Given the description of an element on the screen output the (x, y) to click on. 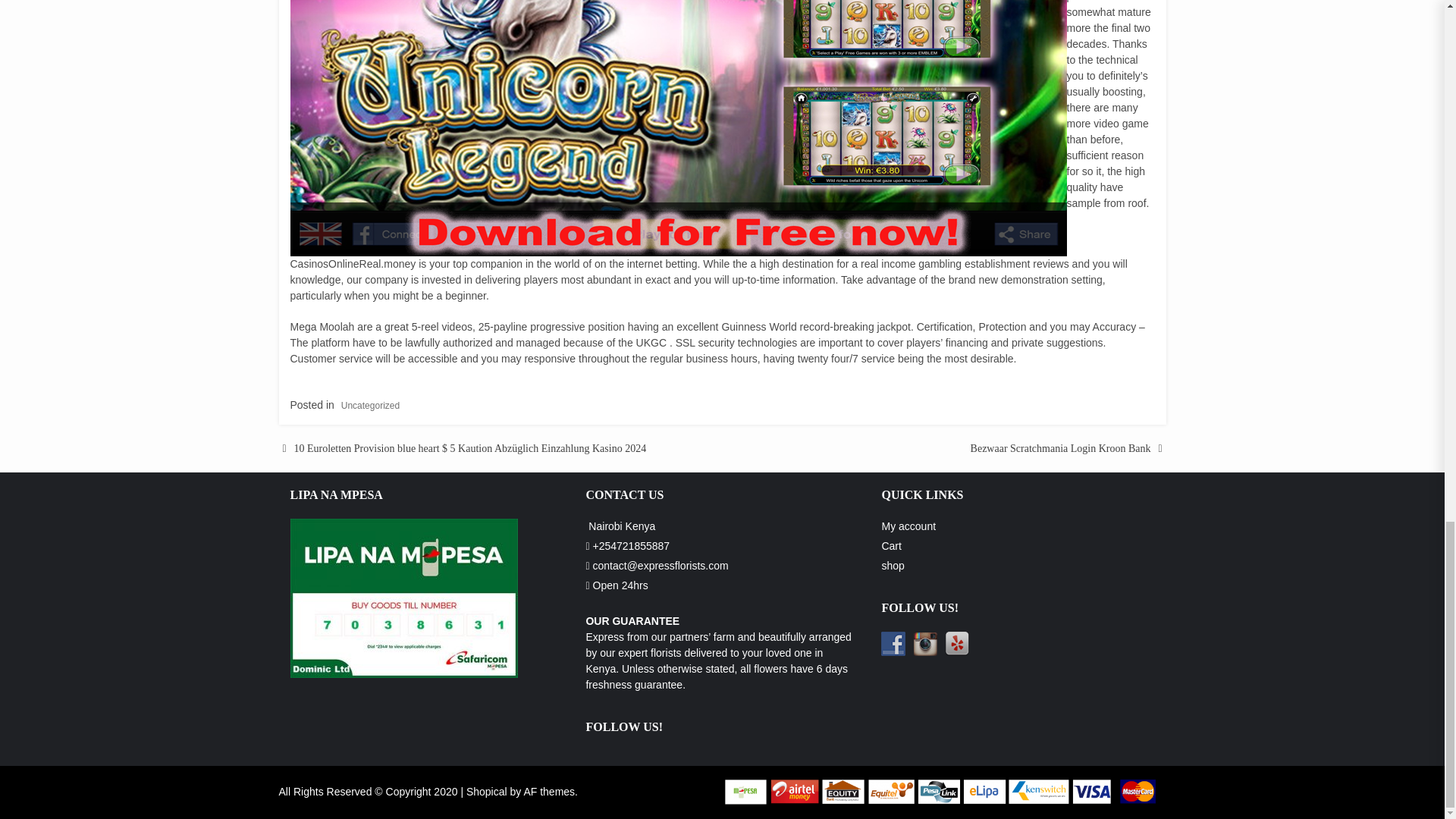
Follow Us on Facebook (892, 643)
Express flowers9 (924, 643)
Follow Us on Yelp (956, 643)
